Given the description of an element on the screen output the (x, y) to click on. 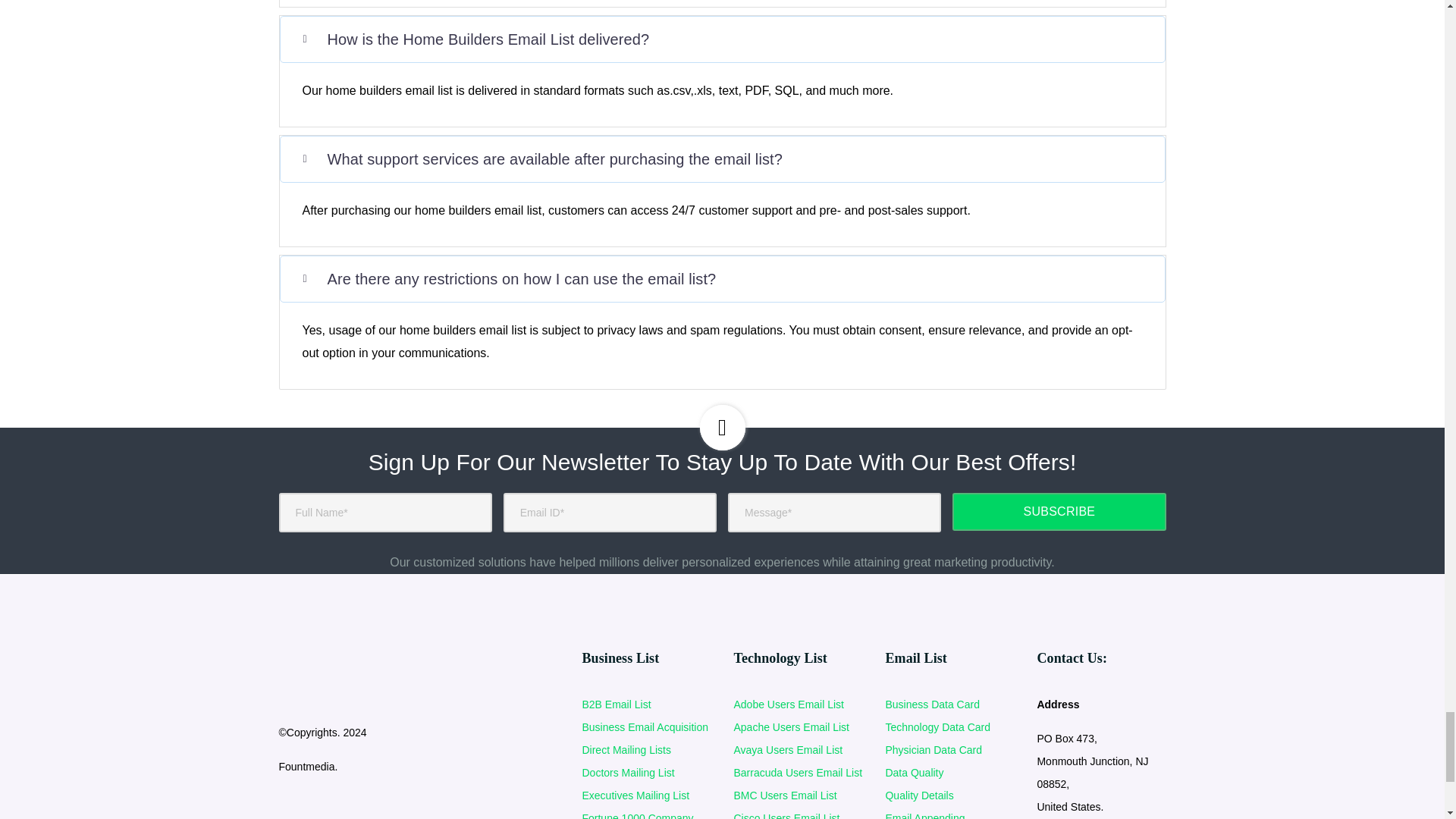
SUBSCRIBE (1059, 511)
DMCA.com Protection Status (336, 816)
